Given the description of an element on the screen output the (x, y) to click on. 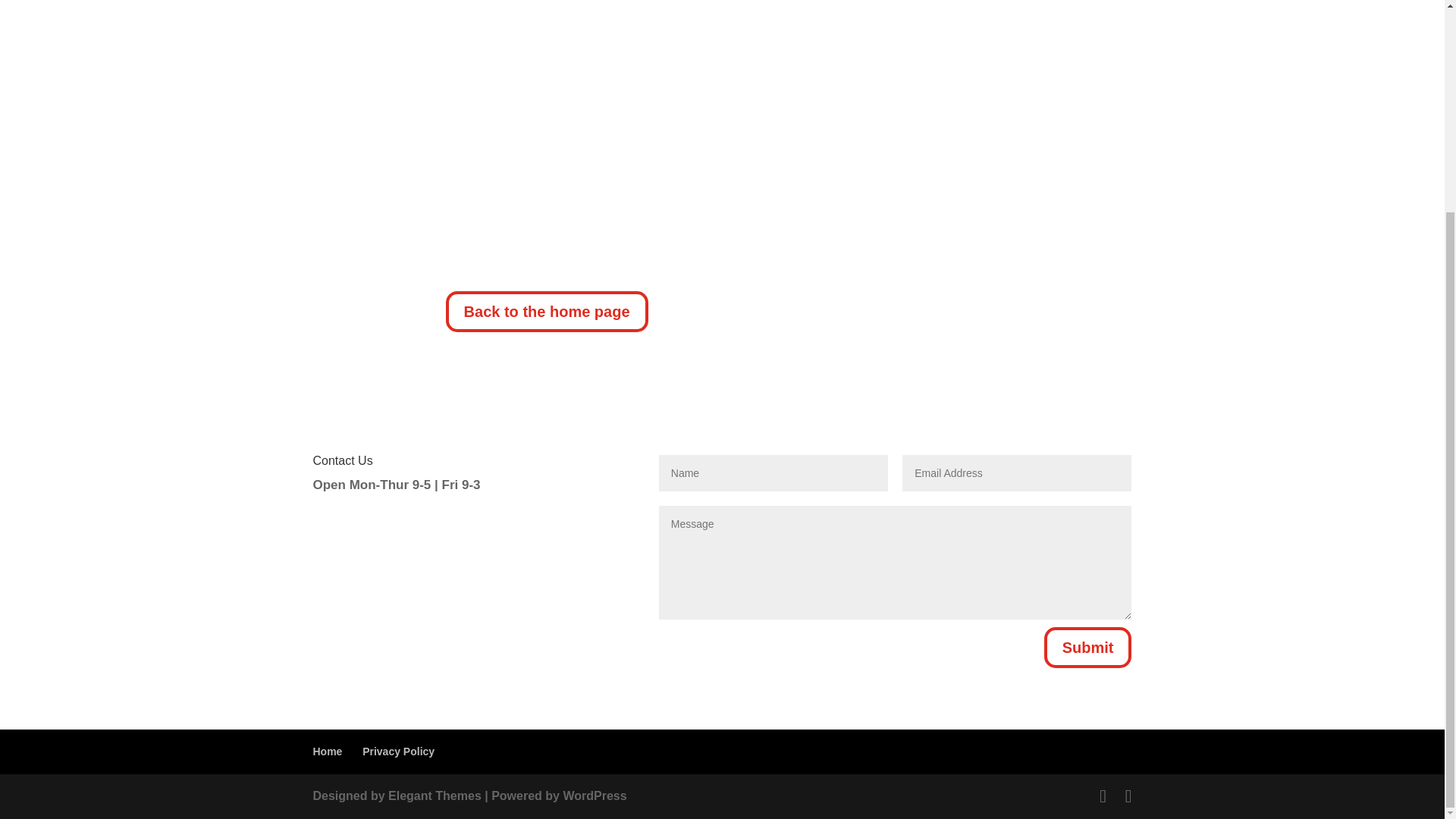
Submit (1087, 647)
Premium WordPress Themes (434, 795)
Home (327, 751)
028 9185 7300 (837, 68)
Back to the home page (546, 311)
Privacy Policy (397, 751)
Elegant Themes (434, 795)
WordPress (594, 795)
